Given the description of an element on the screen output the (x, y) to click on. 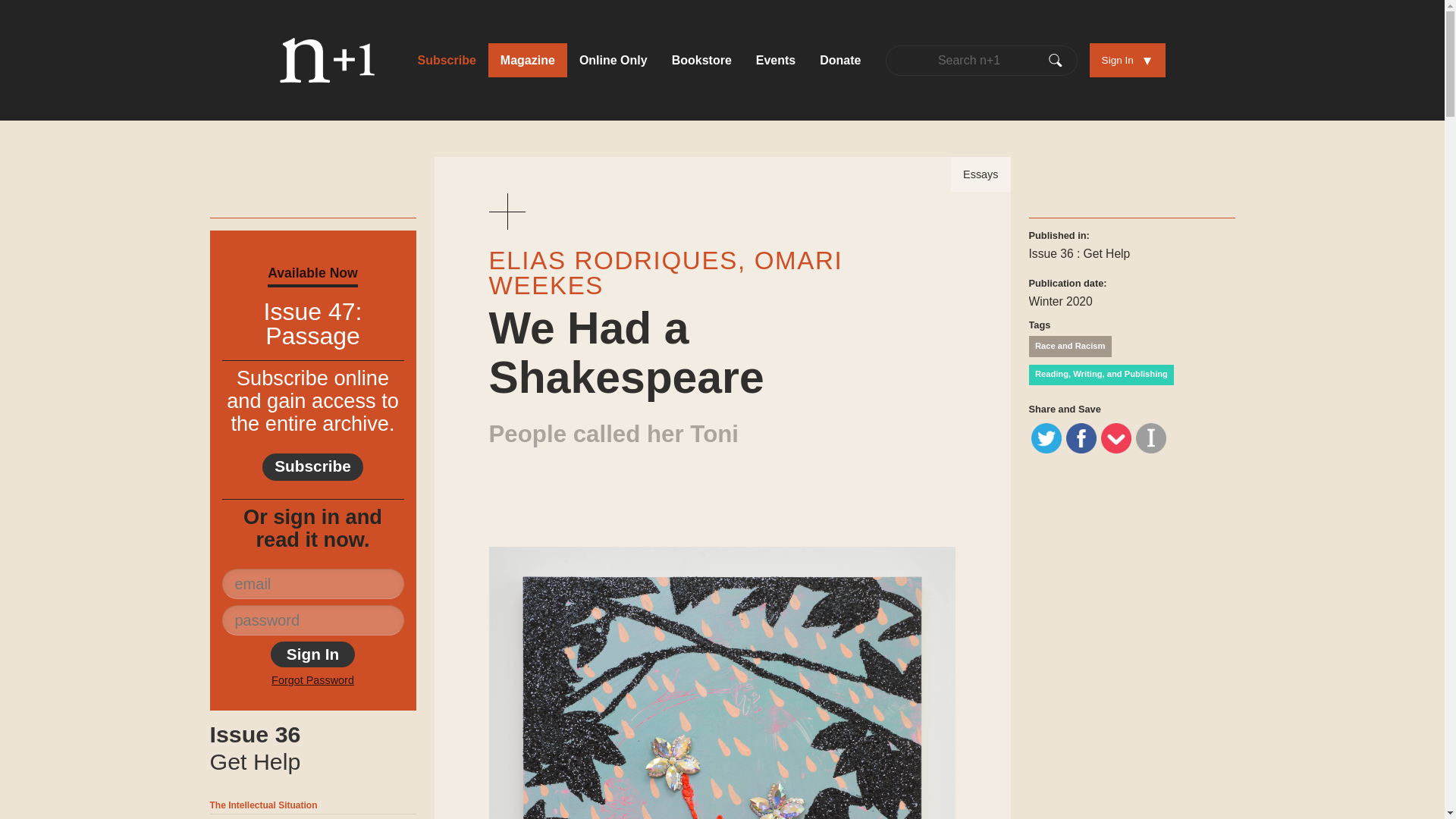
Subscribe (445, 59)
Reading, Writing, and Publishing (1100, 373)
Sign In (312, 654)
Race and Racism (1068, 346)
Magazine (527, 59)
OMARI WEEKES (665, 272)
Online Only (311, 747)
Subscribe (613, 59)
Subscribe (445, 59)
ELIAS RODRIQUES (312, 466)
Latest dispatches (611, 260)
Events (613, 59)
Facebook (776, 59)
Instapaper (1080, 438)
